Given the description of an element on the screen output the (x, y) to click on. 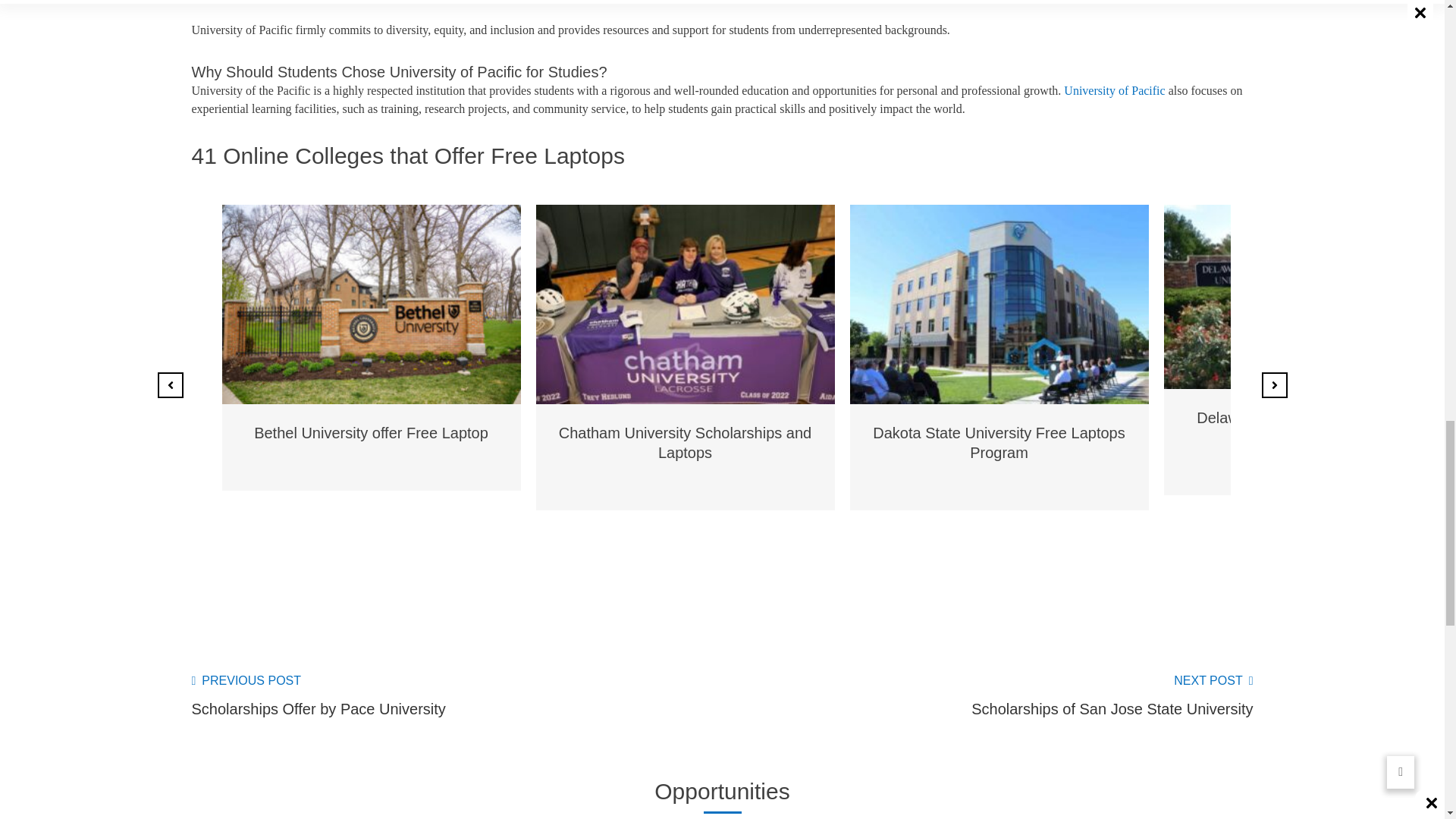
Chatham University Scholarships and Laptops (685, 443)
University of Pacific (1114, 90)
Dakota State University Free Laptops Program (998, 443)
Delaware State University Offering Laptop (1312, 427)
Bethel University offer Free Laptop (370, 433)
